Given the description of an element on the screen output the (x, y) to click on. 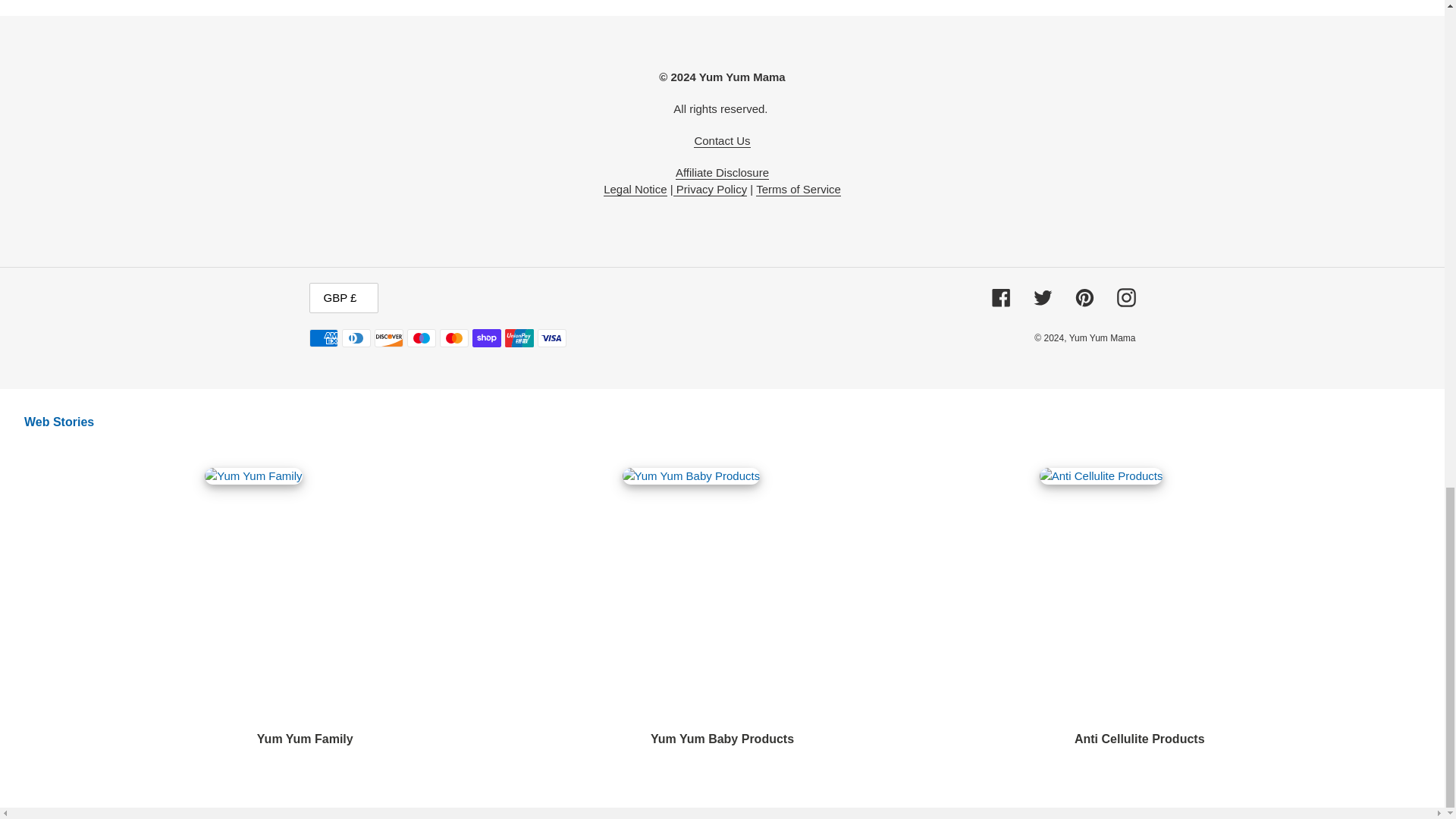
Legal Notice (635, 189)
Privacy Policy (710, 189)
Terms of Service (798, 189)
